Given the description of an element on the screen output the (x, y) to click on. 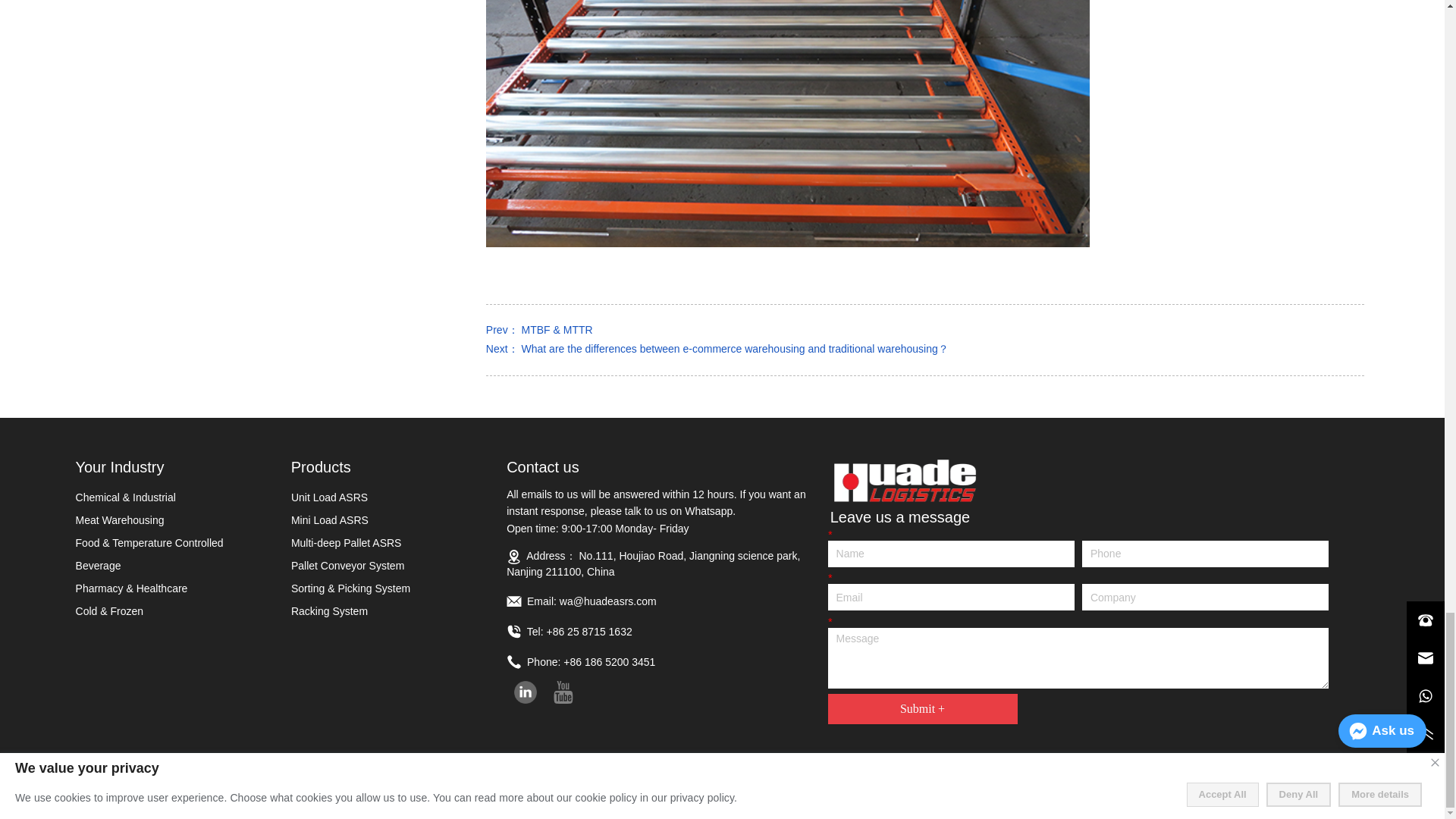
Multi-deep Pallet ASRS (378, 542)
Products (398, 466)
Your Industry (182, 466)
Beverage (164, 565)
Unit Load ASRS (378, 497)
Contact us (667, 466)
Racking System (378, 611)
Mini Load ASRS (378, 520)
Meat Warehousing (164, 520)
Pallet Conveyor System (378, 565)
